Given the description of an element on the screen output the (x, y) to click on. 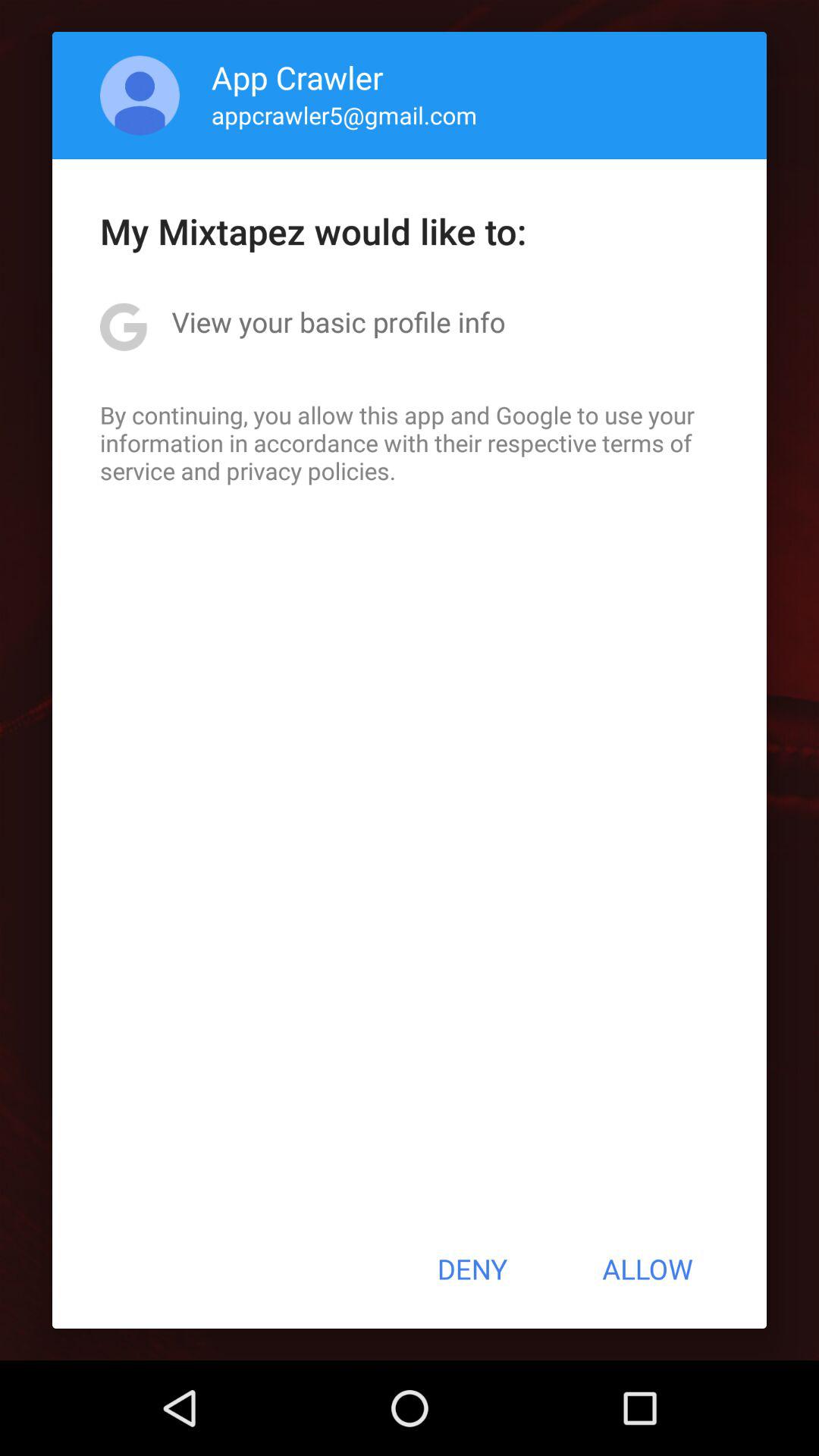
choose app above by continuing you icon (338, 321)
